Given the description of an element on the screen output the (x, y) to click on. 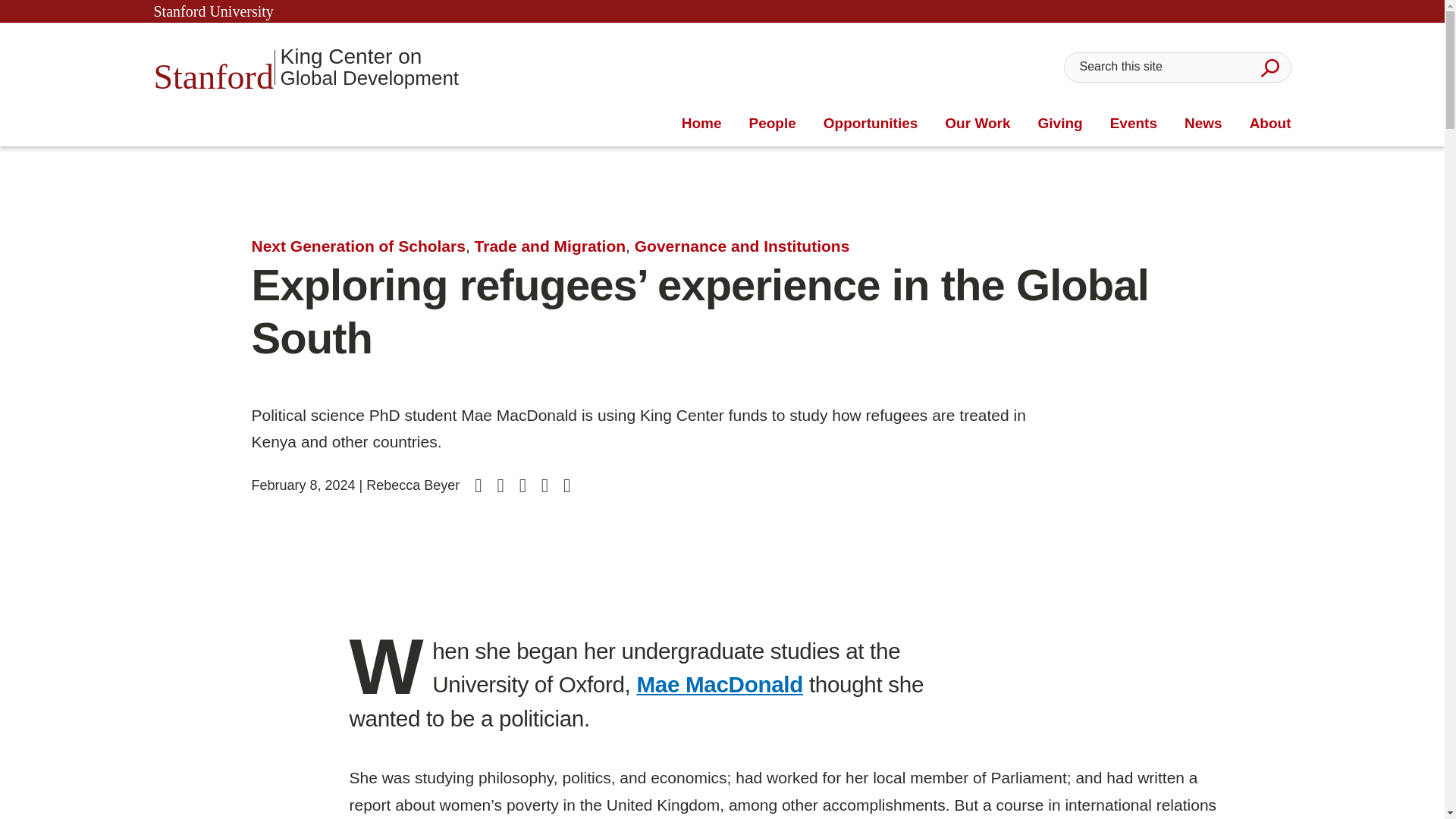
Back to the homepage (701, 123)
People (771, 123)
Opportunities (871, 123)
Submit Search (305, 67)
Programmatic Opportunities (1269, 67)
Skip to main content (871, 123)
